Given the description of an element on the screen output the (x, y) to click on. 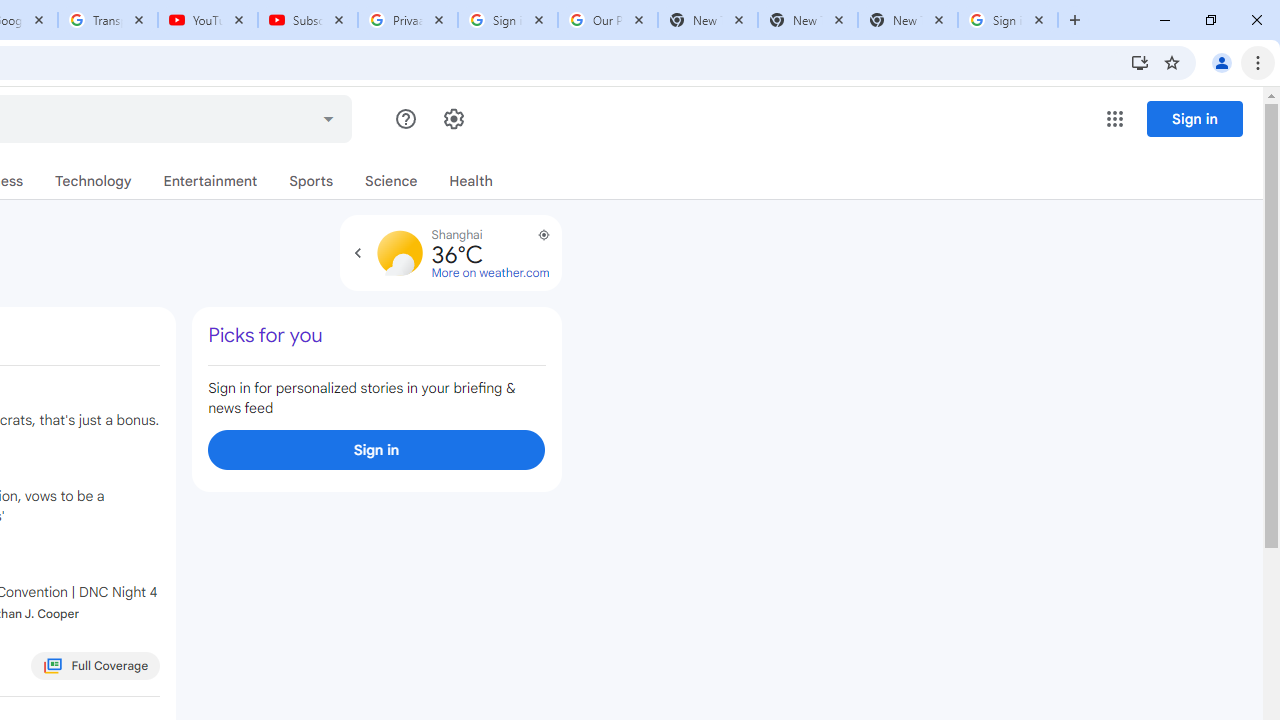
Use precise location (533, 242)
Sports (311, 181)
Expand to view forecast (357, 252)
Sign in - Google Accounts (1007, 20)
Settings (452, 119)
Advanced search (327, 115)
Help (405, 119)
Health (470, 181)
